Given the description of an element on the screen output the (x, y) to click on. 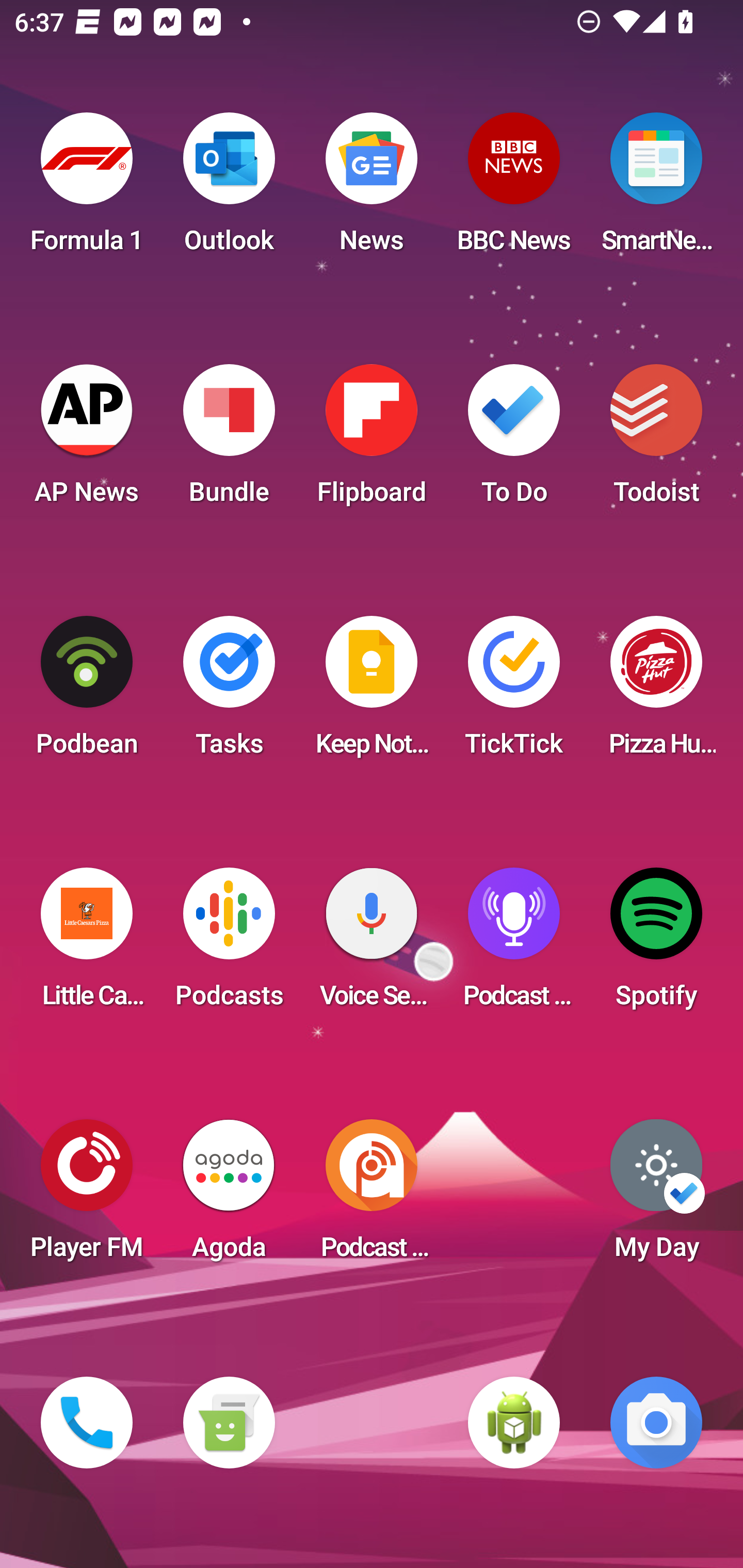
Formula 1 (86, 188)
Outlook (228, 188)
News (371, 188)
BBC News (513, 188)
SmartNews (656, 188)
AP News (86, 440)
Bundle (228, 440)
Flipboard (371, 440)
To Do (513, 440)
Todoist (656, 440)
Podbean (86, 692)
Tasks (228, 692)
Keep Notes (371, 692)
TickTick (513, 692)
Pizza Hut HK & Macau (656, 692)
Little Caesars Pizza (86, 943)
Podcasts (228, 943)
Voice Search (371, 943)
Podcast Player (513, 943)
Spotify (656, 943)
Player FM (86, 1195)
Agoda (228, 1195)
Podcast Addict (371, 1195)
My Day (656, 1195)
Phone (86, 1422)
Messaging (228, 1422)
WebView Browser Tester (513, 1422)
Camera (656, 1422)
